Given the description of an element on the screen output the (x, y) to click on. 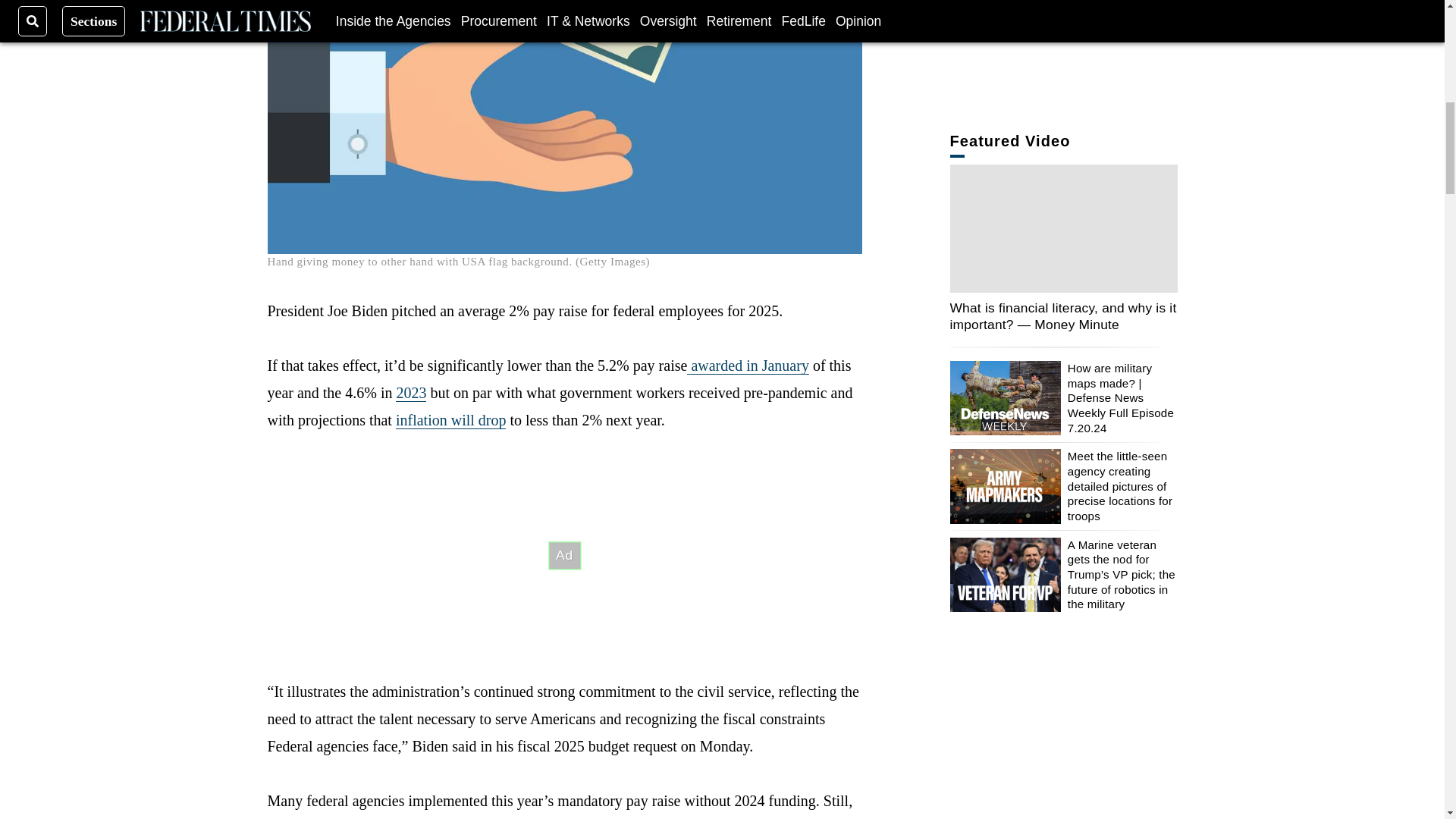
3rd party ad content (563, 555)
